Given the description of an element on the screen output the (x, y) to click on. 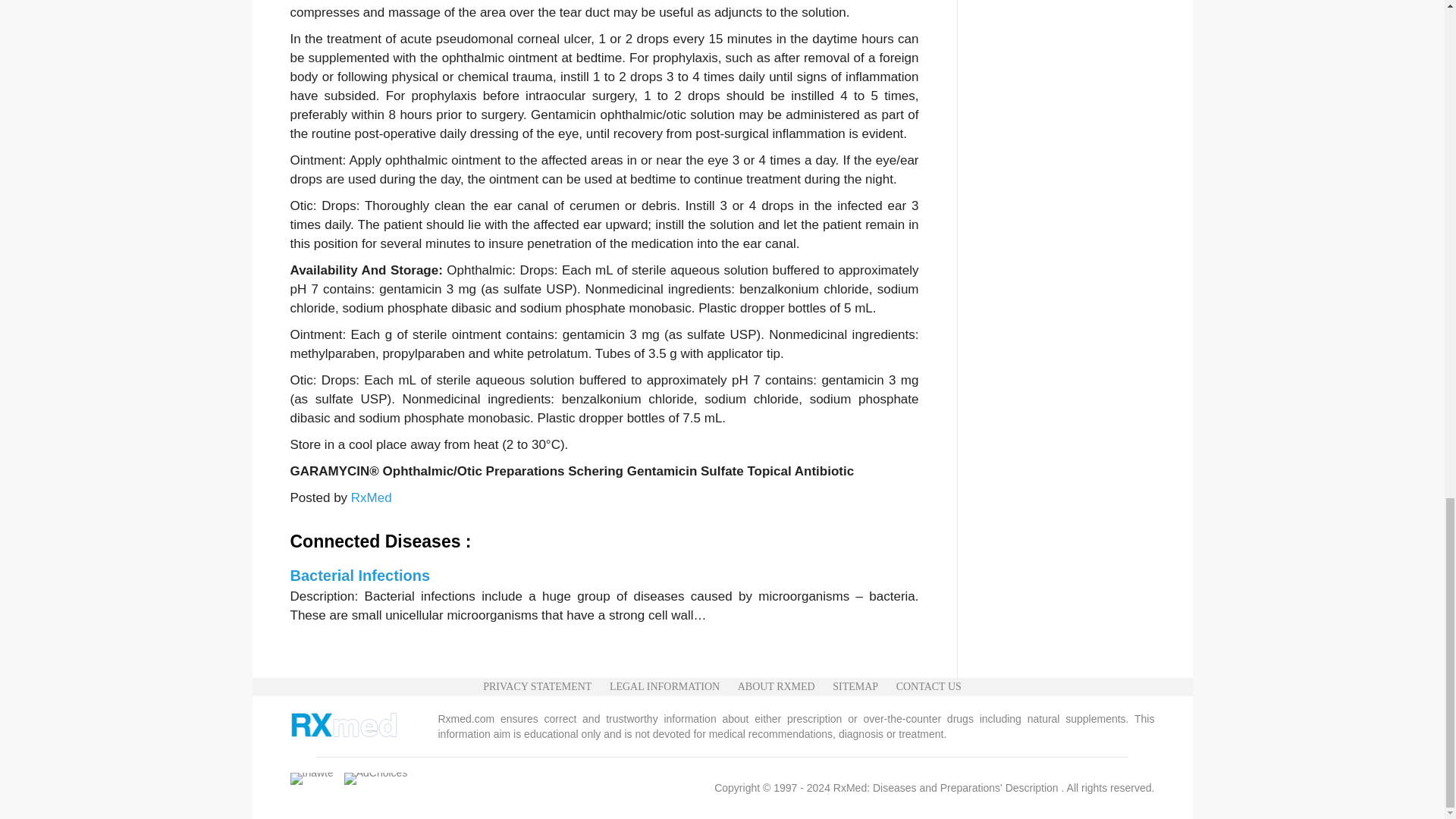
Bacterial Infections (359, 575)
LEGAL INFORMATION (664, 687)
PRIVACY STATEMENT (537, 687)
CONTACT US (928, 687)
Bacterial Infections (359, 575)
SITEMAP (855, 687)
RxMed (370, 497)
ABOUT RXMED (776, 687)
Posts by RxMed (370, 497)
